Given the description of an element on the screen output the (x, y) to click on. 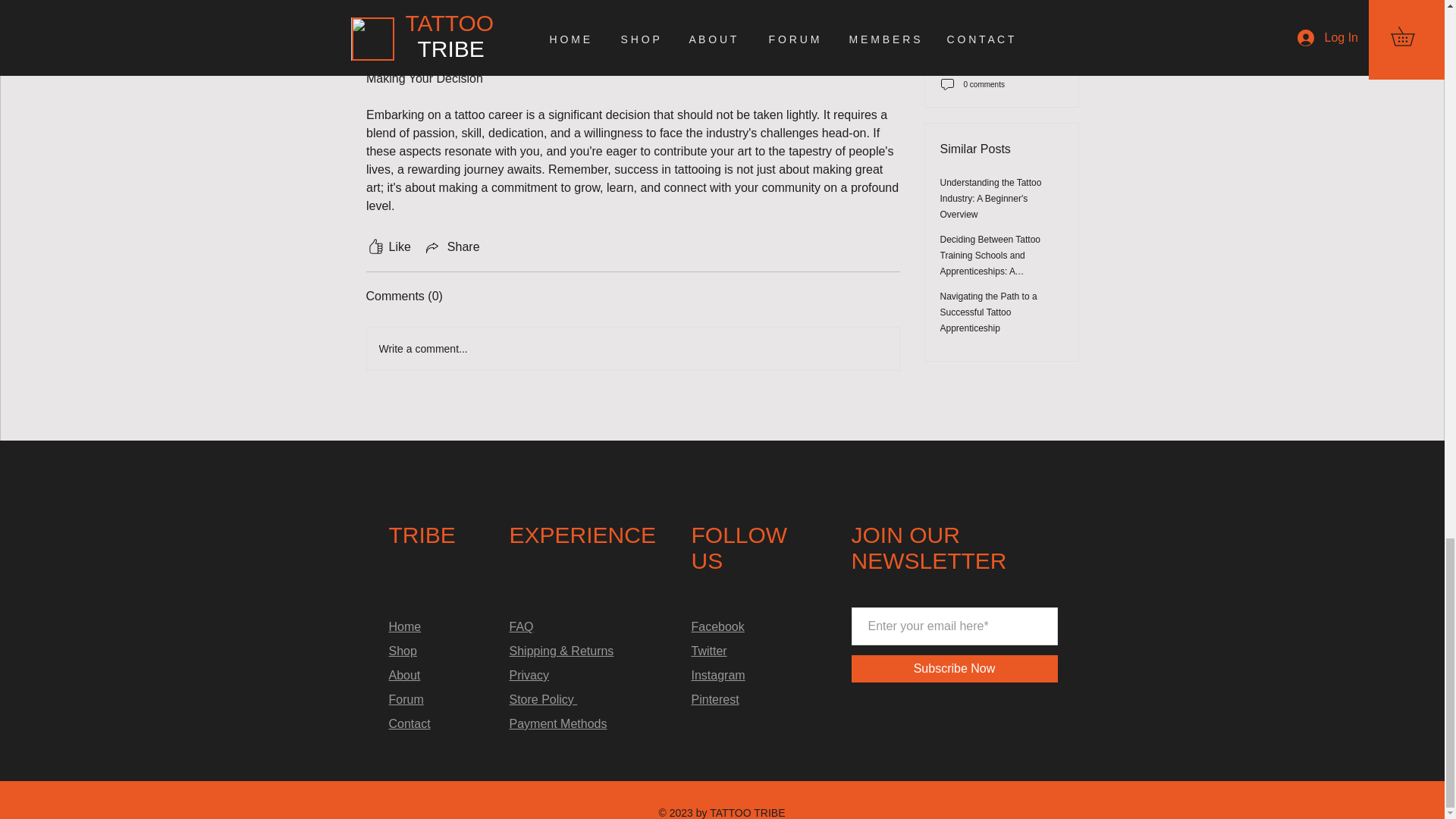
Store Policy  (543, 698)
Forum (405, 698)
Write a comment... (632, 348)
FAQ (521, 626)
Share (451, 247)
Home (404, 626)
Like (387, 247)
About (404, 675)
Shop (402, 650)
Contact (408, 723)
Privacy (528, 675)
Payment Methods (558, 723)
